Given the description of an element on the screen output the (x, y) to click on. 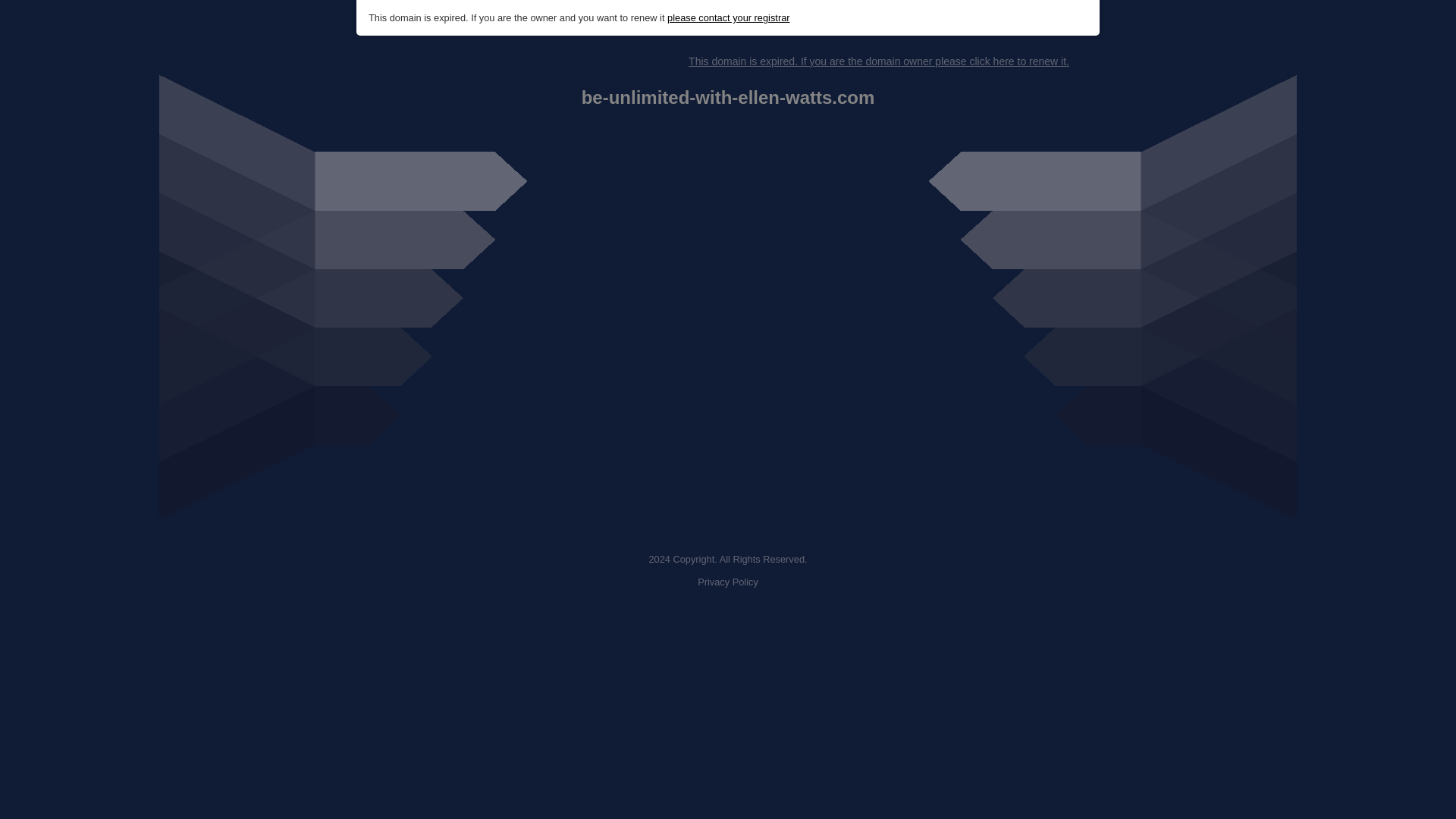
please contact your registrar (727, 17)
Privacy Policy (727, 582)
